Given the description of an element on the screen output the (x, y) to click on. 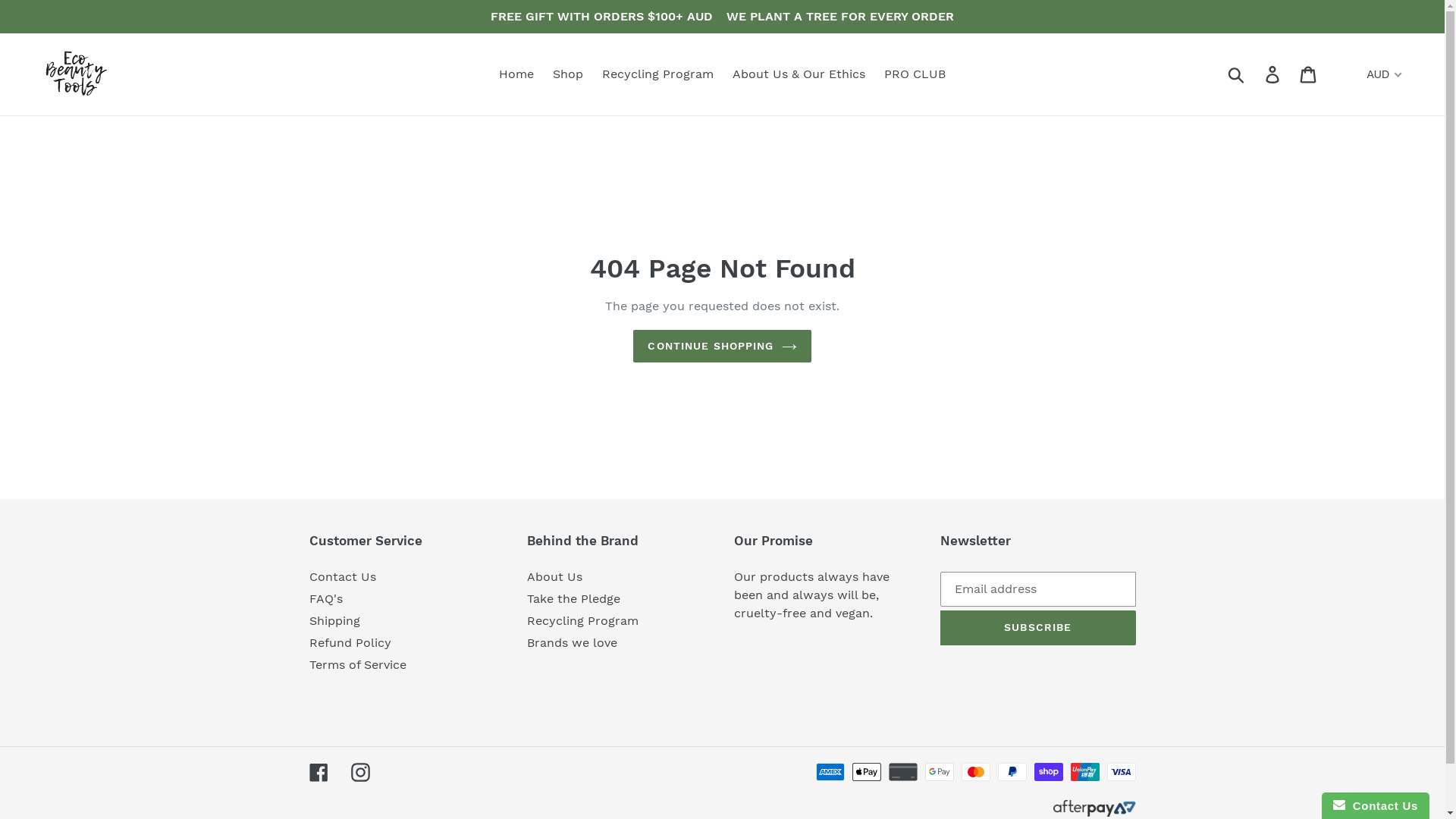
About Us & Our Ethics Element type: text (798, 73)
SUBSCRIBE Element type: text (1037, 627)
About Us Element type: text (554, 576)
CONTINUE SHOPPING Element type: text (721, 345)
FAQ's Element type: text (325, 598)
Contact Us Element type: text (342, 576)
Brands we love Element type: text (572, 642)
PRO CLUB Element type: text (914, 73)
Log in Element type: text (1273, 74)
Shop Element type: text (567, 73)
Shipping Element type: text (334, 620)
Cart Element type: text (1309, 74)
Terms of Service Element type: text (357, 664)
Home Element type: text (516, 73)
Submit Element type: text (1236, 74)
Recycling Program Element type: text (657, 73)
Instagram Element type: text (359, 771)
Recycling Program Element type: text (582, 620)
Refund Policy Element type: text (350, 642)
Take the Pledge Element type: text (573, 598)
Facebook Element type: text (318, 771)
